Given the description of an element on the screen output the (x, y) to click on. 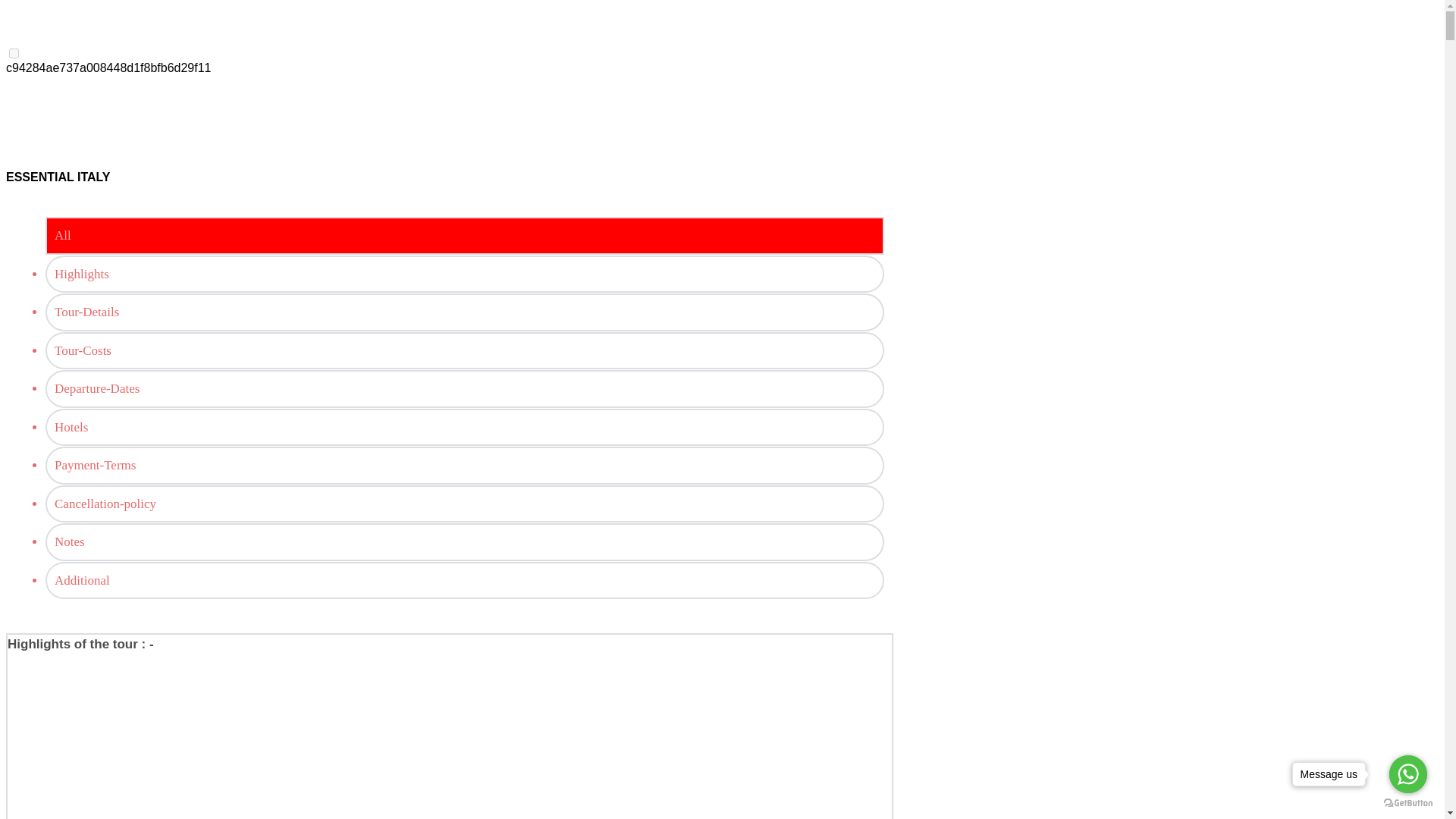
on (13, 53)
Message us (1330, 774)
Message us (1333, 774)
